Given the description of an element on the screen output the (x, y) to click on. 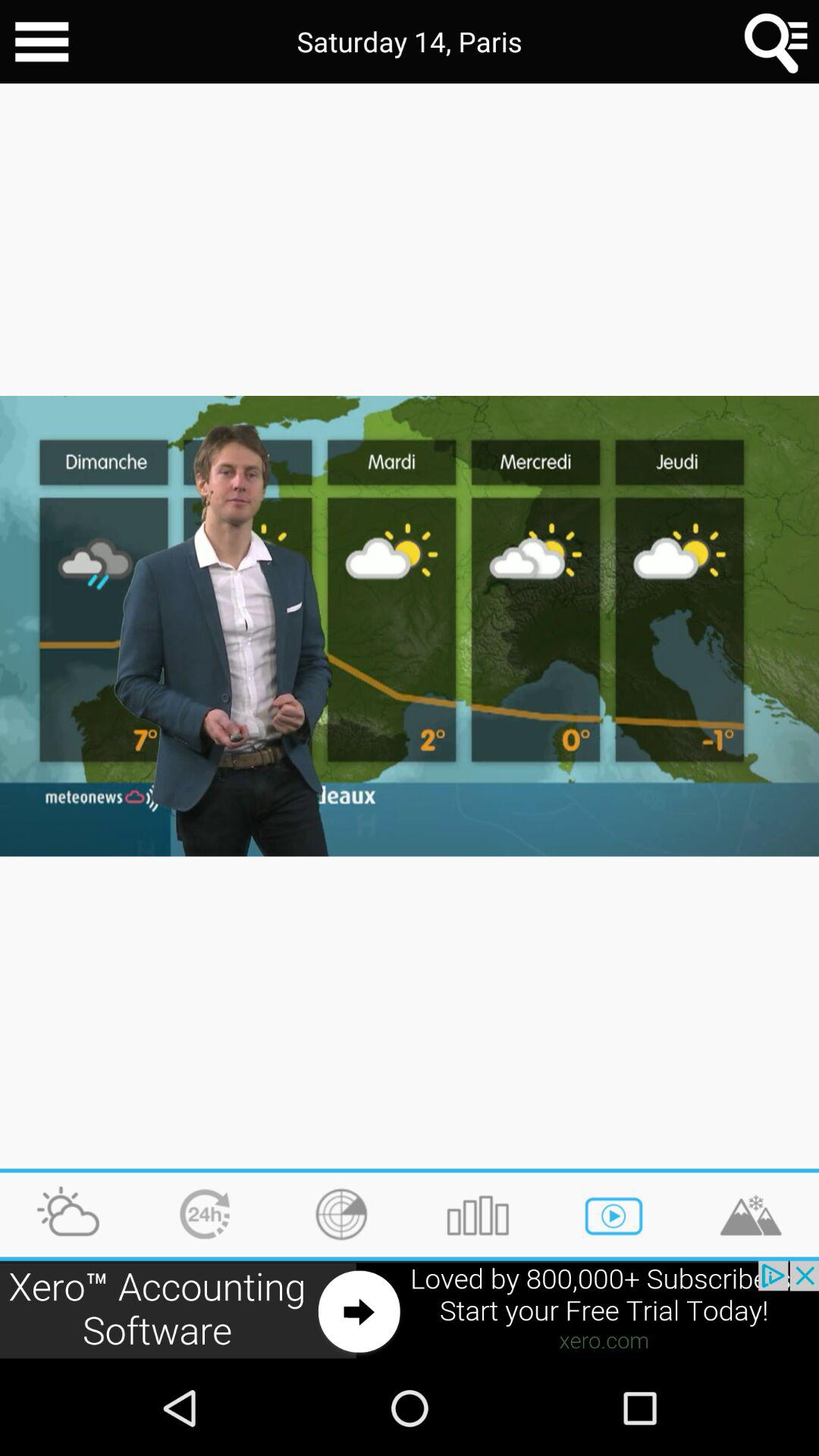
go to searche (777, 41)
